Given the description of an element on the screen output the (x, y) to click on. 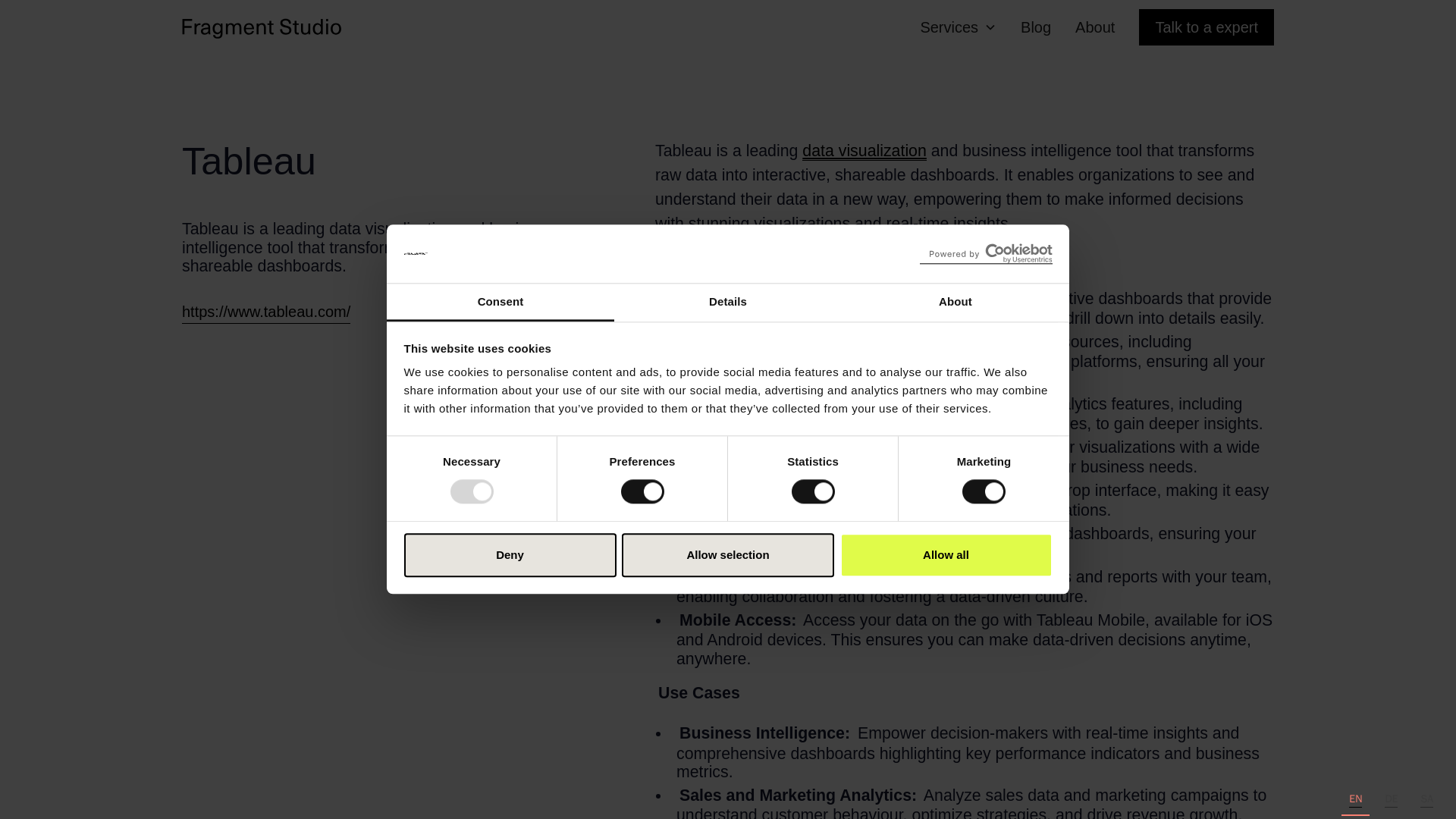
Consent (500, 302)
About (954, 302)
Details (727, 302)
